Given the description of an element on the screen output the (x, y) to click on. 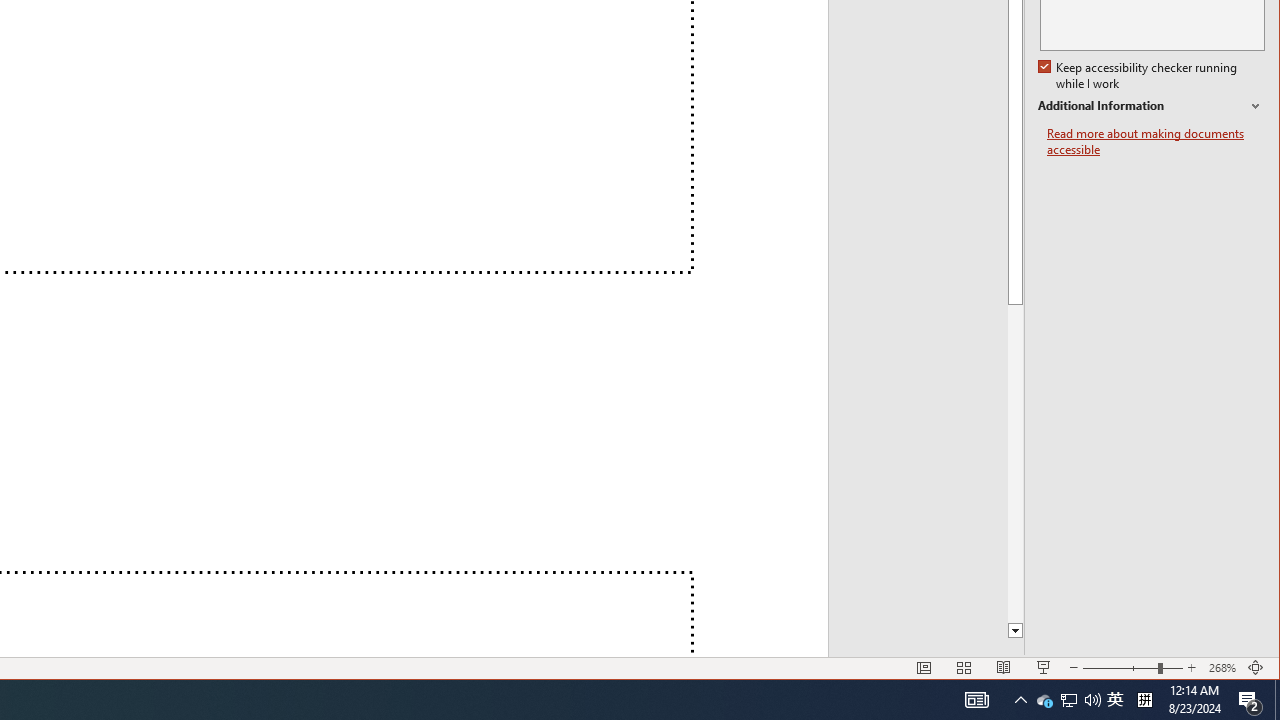
Keep accessibility checker running while I work (1139, 76)
Additional Information (1151, 106)
Tray Input Indicator - Chinese (Simplified, China) (1144, 699)
AutomationID: 4105 (1044, 699)
Notification Chevron (976, 699)
Q2790: 100% (1020, 699)
